Given the description of an element on the screen output the (x, y) to click on. 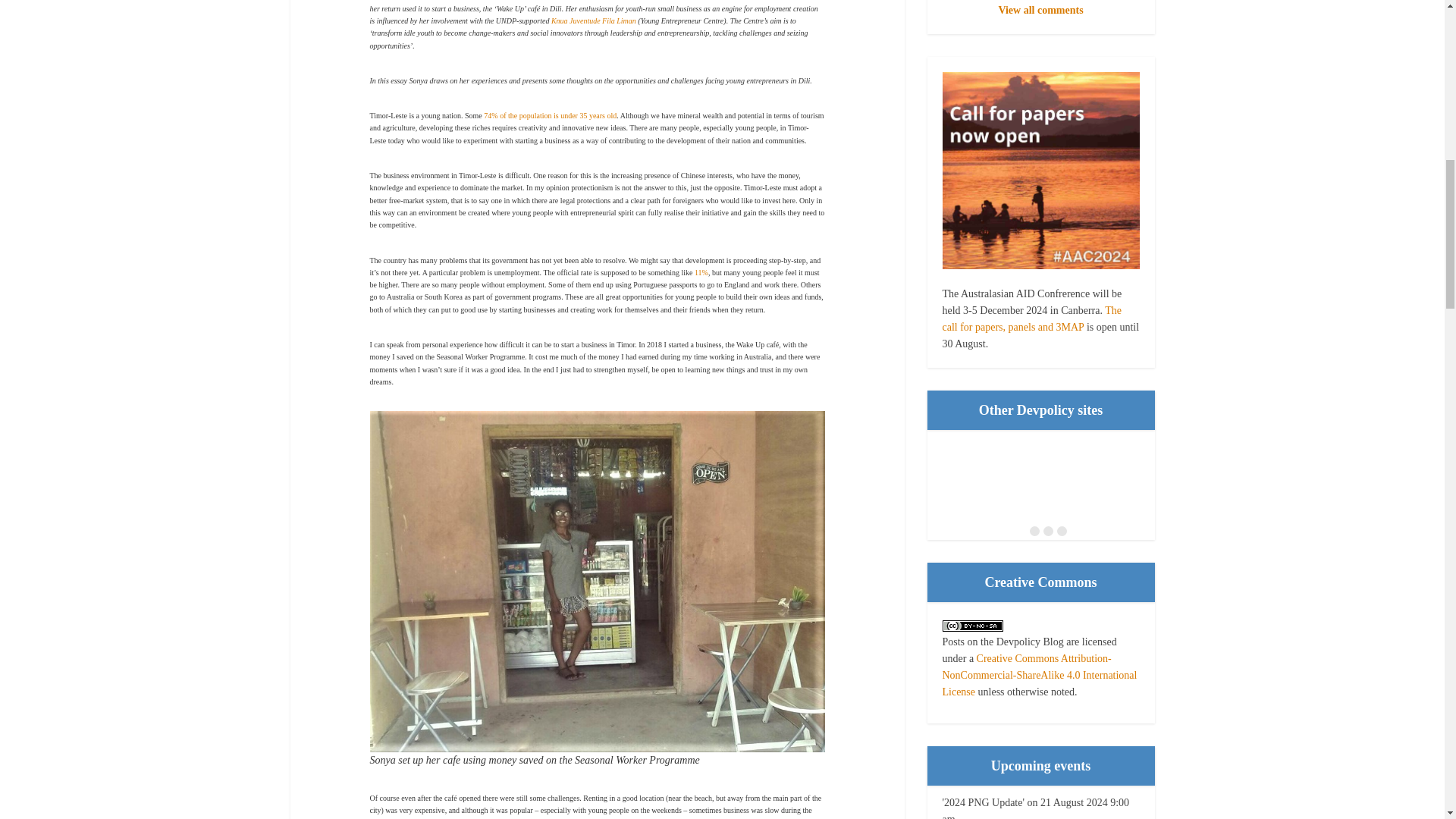
Knua Juventude Fila Liman (593, 20)
